Given the description of an element on the screen output the (x, y) to click on. 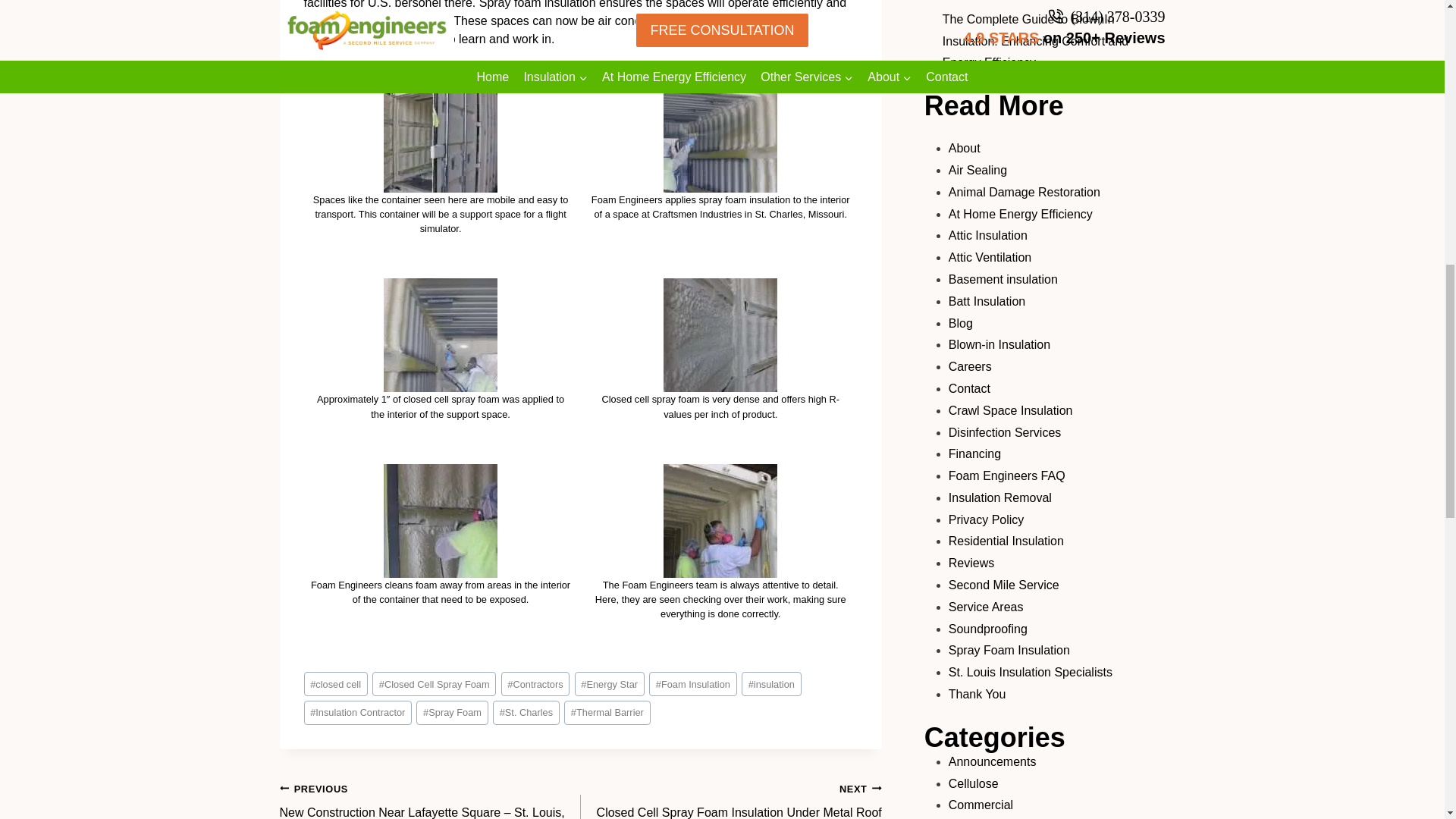
Thermal Barrier (606, 712)
St. Charles (526, 712)
Energy Star (610, 683)
Foam Insulation (692, 683)
closed cell (334, 683)
insulation (771, 683)
Spray Foam (451, 712)
Closed Cell Spray Foam (434, 683)
Insulation Contractor (357, 712)
Contractors (535, 683)
